Given the description of an element on the screen output the (x, y) to click on. 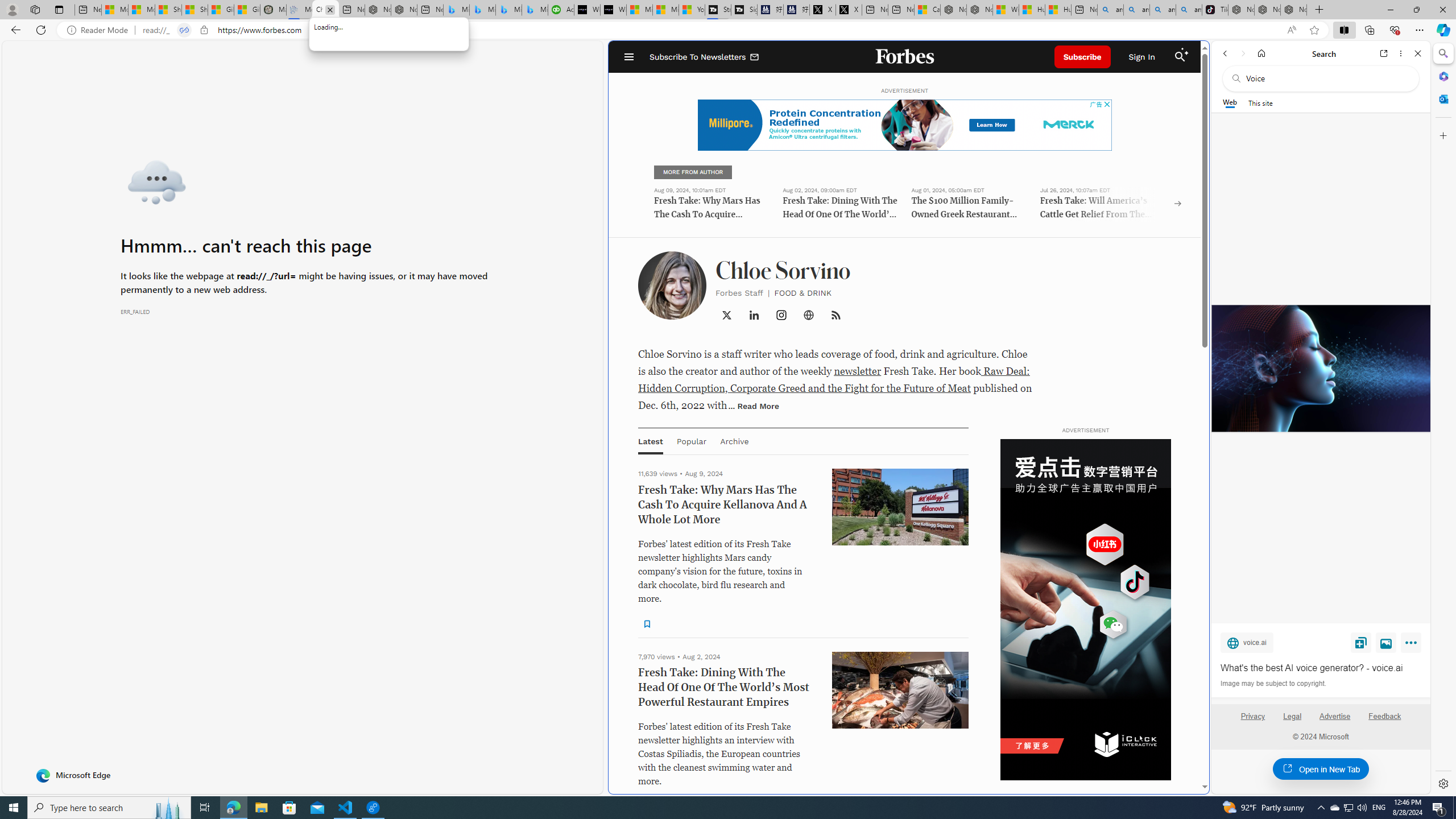
Subscribe (1082, 56)
Shanghai, China weather forecast | Microsoft Weather (194, 9)
Class: OesMt (781, 314)
Save (1361, 642)
Image may be subject to copyright. (1273, 682)
Legal (1291, 715)
Popular (691, 441)
Archive (734, 441)
Latest (649, 441)
Forbes Logo (904, 56)
FOOD & DRINK (802, 292)
Class: sparkles_svg__fs-icon sparkles_svg__fs-icon--sparkles (1185, 51)
